Given the description of an element on the screen output the (x, y) to click on. 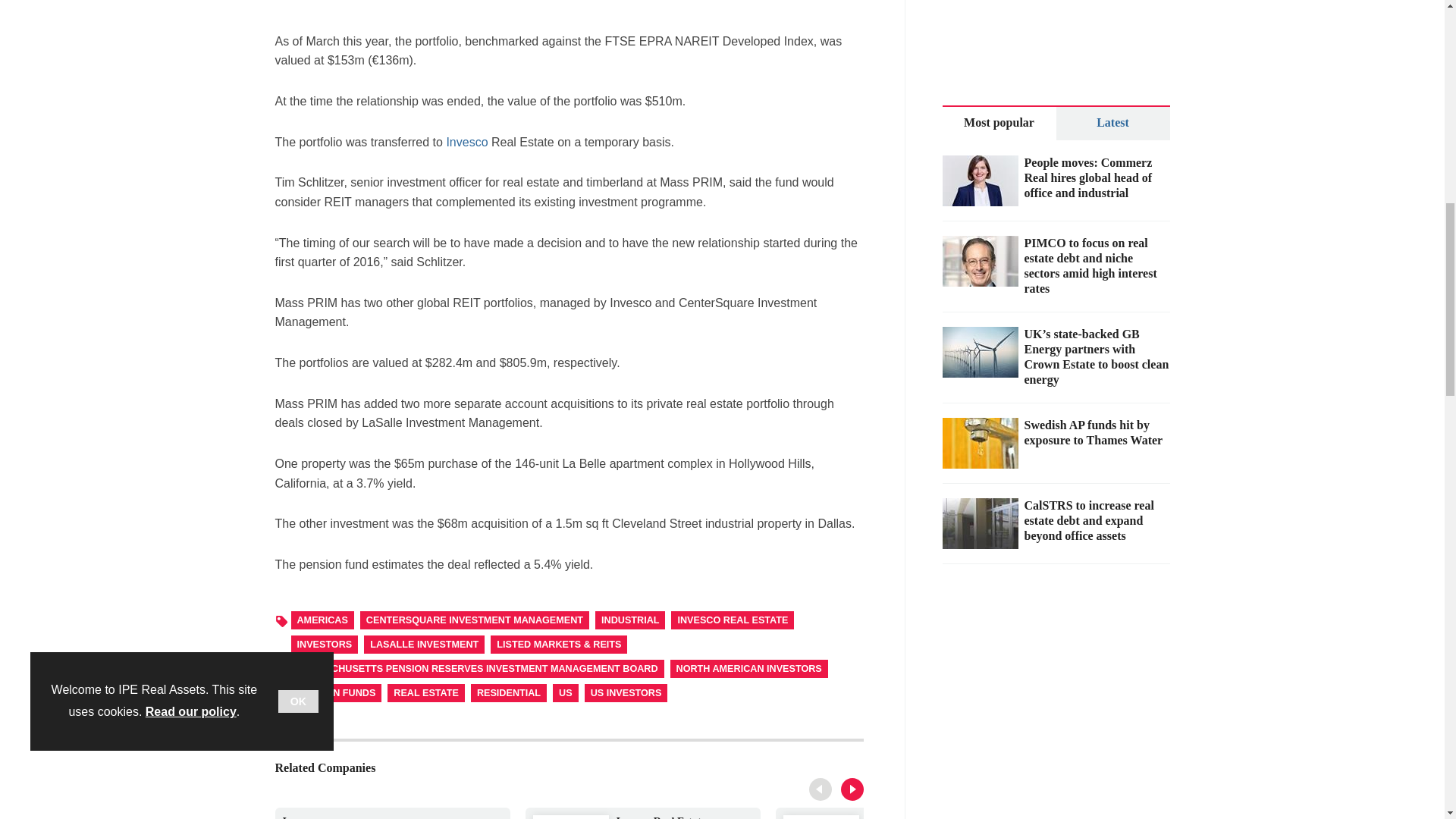
3rd party ad content (568, 8)
3rd party ad content (826, 790)
